Given the description of an element on the screen output the (x, y) to click on. 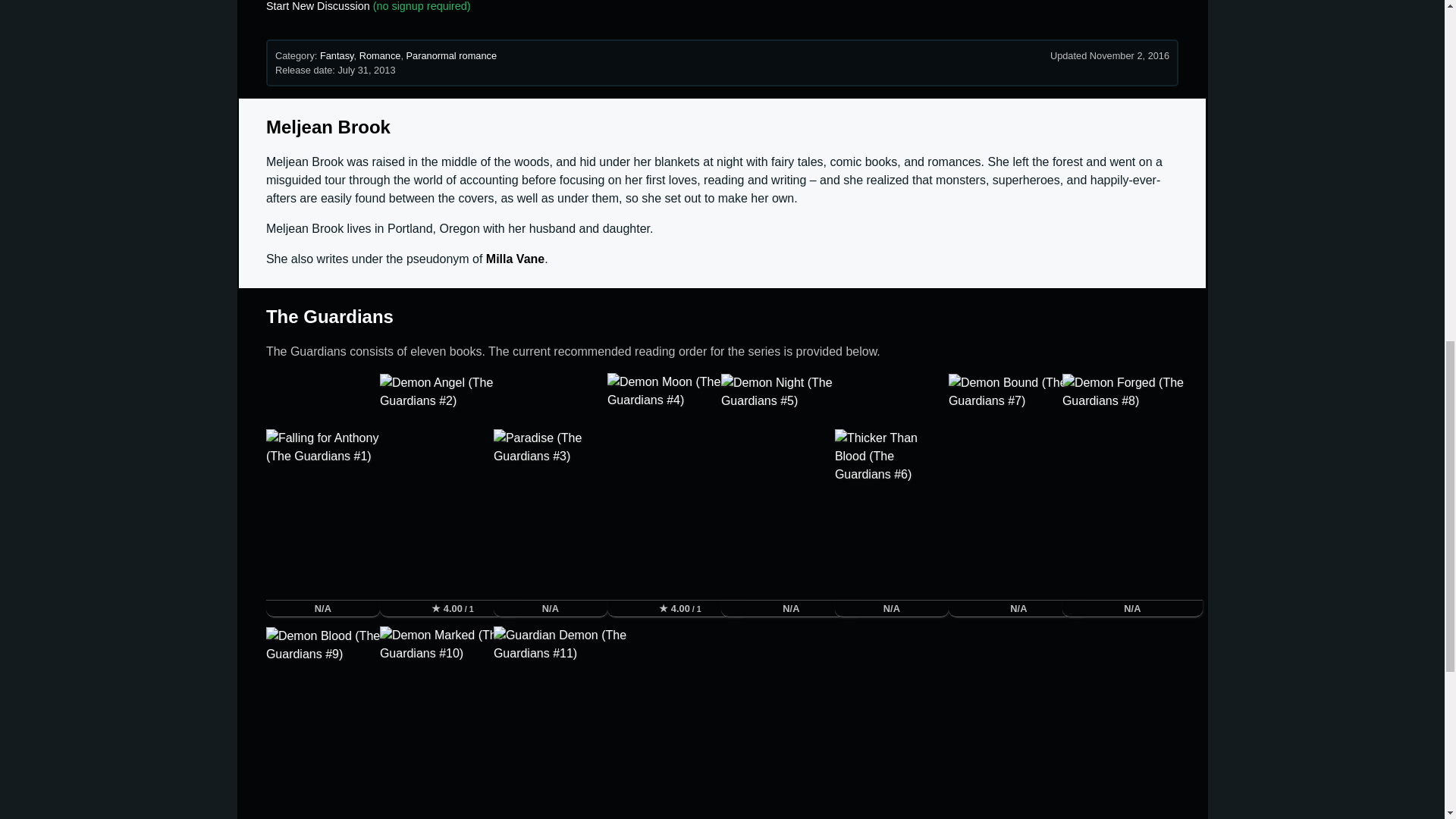
Fantasy (336, 55)
Romance (380, 55)
Paranormal romance (451, 55)
